Given the description of an element on the screen output the (x, y) to click on. 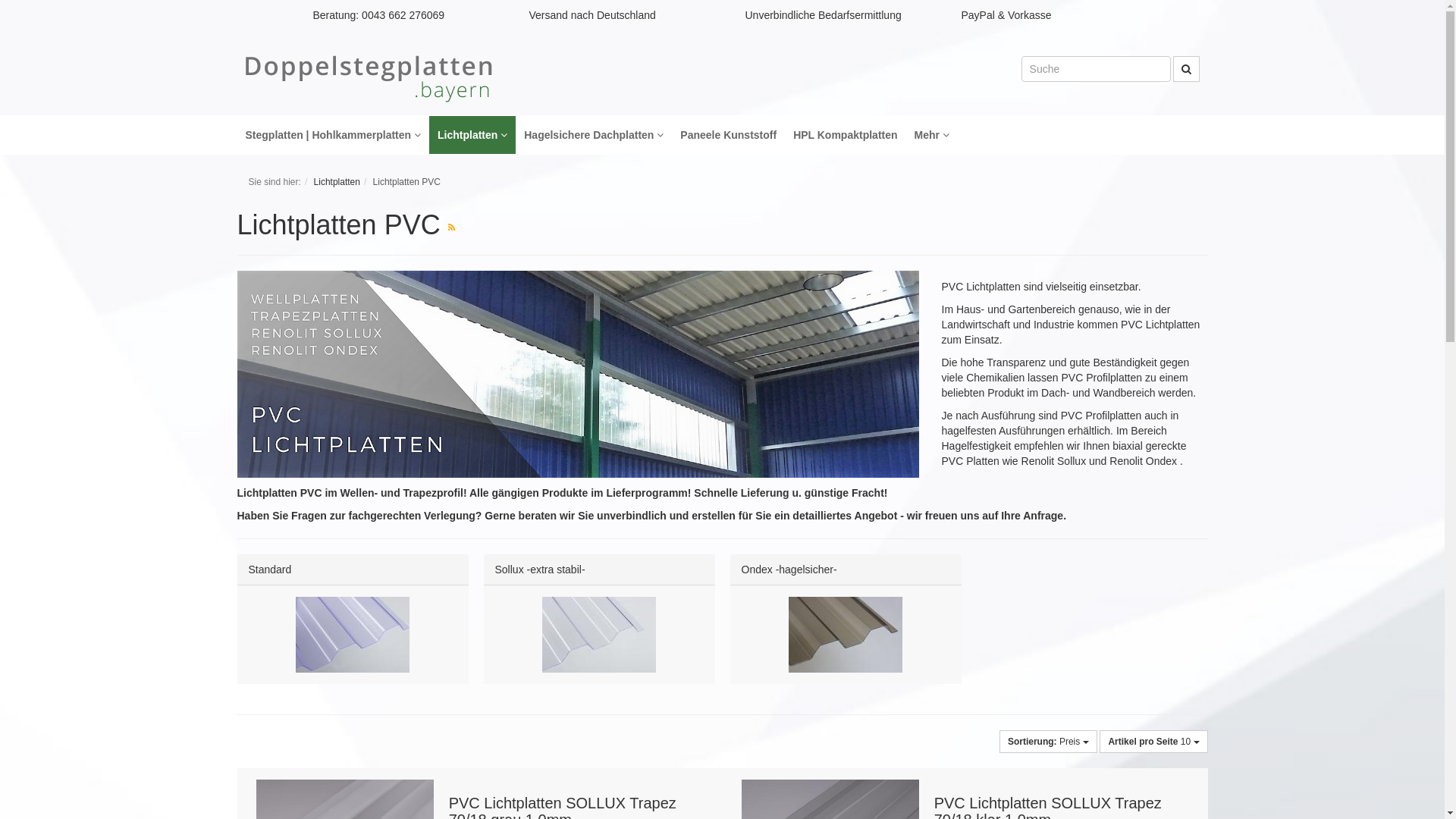
Artikel pro Seite 10 Element type: text (1153, 741)
Doppelstegplatten.bayern Element type: hover (369, 80)
Lichtplatten PVC Element type: text (406, 181)
HPL Kompaktplatten Element type: text (844, 134)
Sortierung: Preis Element type: text (1048, 741)
Hagelsichere Dachplatten  Element type: text (593, 134)
Ondex -hagelsicher- Element type: text (789, 569)
Stegplatten | Hohlkammerplatten  Element type: text (332, 134)
Sollux -extra stabil- Element type: text (539, 569)
Mehr  Element type: text (931, 134)
Paneele Kunststoff Element type: text (727, 134)
Standard Element type: text (269, 569)
Lichtplatten Element type: text (336, 181)
Suchen Element type: hover (1186, 68)
Lichtplatten  Element type: text (472, 134)
